Given the description of an element on the screen output the (x, y) to click on. 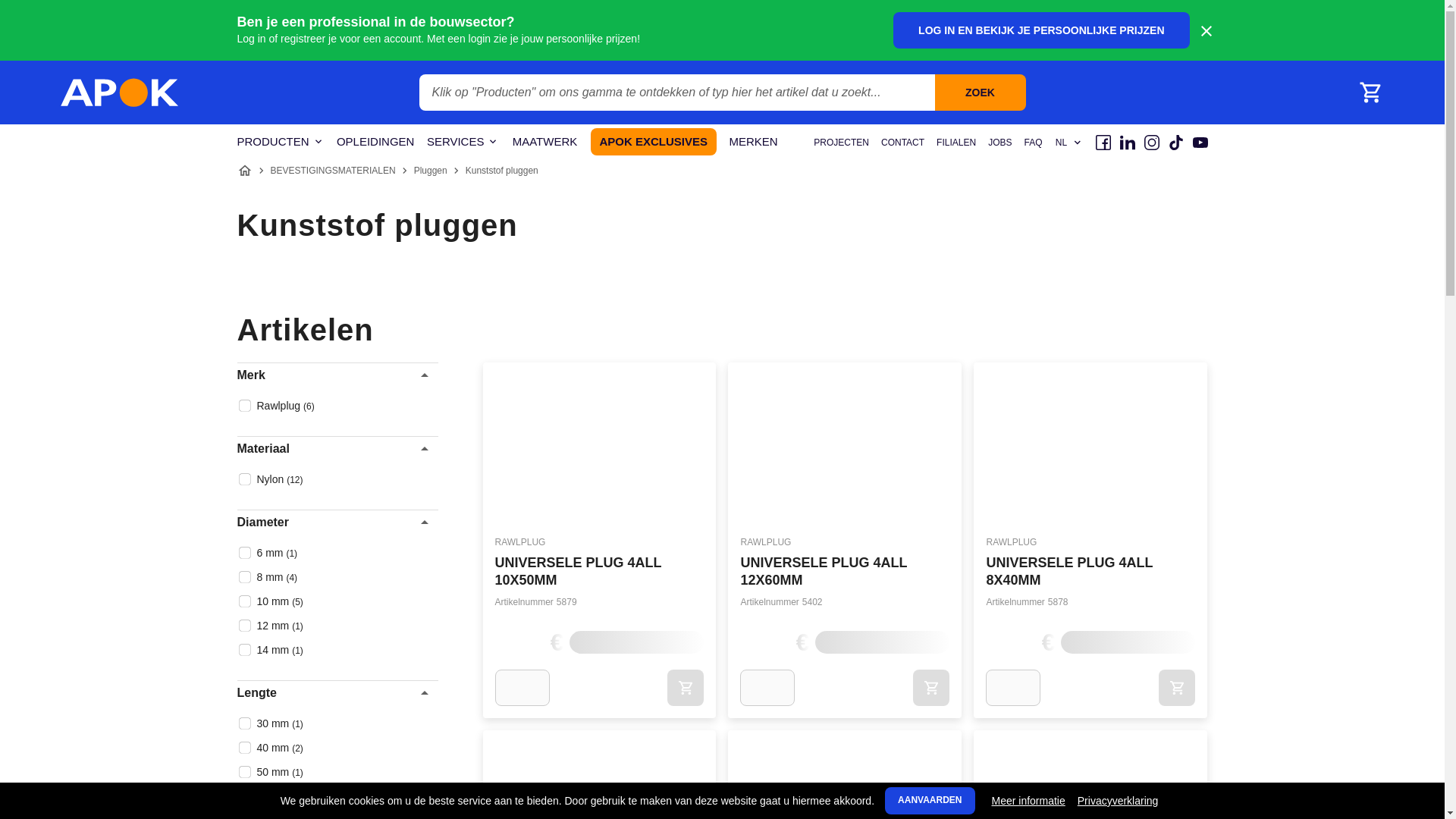
Meer informatie Element type: text (1028, 800)
Diameter
Collapse filter Element type: text (336, 522)
UNIVERSELE PLUG 4ALL 10X50MM Element type: text (577, 571)
SERVICES Element type: text (462, 142)
APOK.CATEGORY.PRODUCTS.CART.ADDTOCART Element type: text (931, 687)
AANVAARDEN Element type: text (929, 800)
UNIVERSELE PLUG 4ALL 8X40MM Element type: text (1068, 571)
MAATWERK Element type: text (544, 142)
Merk
Collapse filter Element type: text (336, 375)
Sluit filters Element type: hover (231, 375)
Lengte
Collapse filter Element type: text (336, 693)
Facebook Element type: text (1102, 142)
TikTok Element type: text (1175, 142)
Youtube Element type: text (1199, 142)
Privacyverklaring Element type: text (1117, 800)
JOBS Element type: text (999, 142)
Kunststof pluggen Element type: text (501, 170)
LOG IN EN BEKIJK JE PERSOONLIJKE PRIJZEN Element type: text (1041, 30)
APOK EXCLUSIVES Element type: text (653, 141)
Winkelmandje Element type: text (1369, 92)
PROJECTEN Element type: text (841, 142)
PROFESSIONALUSERBAR/CLOSE Element type: text (1205, 30)
Pluggen Element type: text (430, 170)
LinkedIn Element type: text (1126, 142)
APOK.CATEGORY.PRODUCTS.CART.ADDTOCART Element type: text (685, 687)
MERKEN Element type: text (753, 142)
OPLEIDINGEN Element type: text (375, 142)
APOK.CATEGORY.PRODUCTS.CART.ADDTOCART Element type: text (1176, 687)
Instagram Element type: text (1150, 142)
Materiaal
Collapse filter Element type: text (336, 448)
FAQ Element type: text (1032, 142)
BEVESTIGINGSMATERIALEN Element type: text (332, 170)
FILIALEN Element type: text (955, 142)
ZOEK Element type: text (979, 92)
NL Element type: text (1068, 142)
Home Element type: text (243, 170)
UNIVERSELE PLUG 4ALL 12X60MM Element type: text (823, 571)
APOK Element type: text (119, 92)
PRODUCTEN Element type: text (279, 142)
CONTACT Element type: text (902, 142)
